Given the description of an element on the screen output the (x, y) to click on. 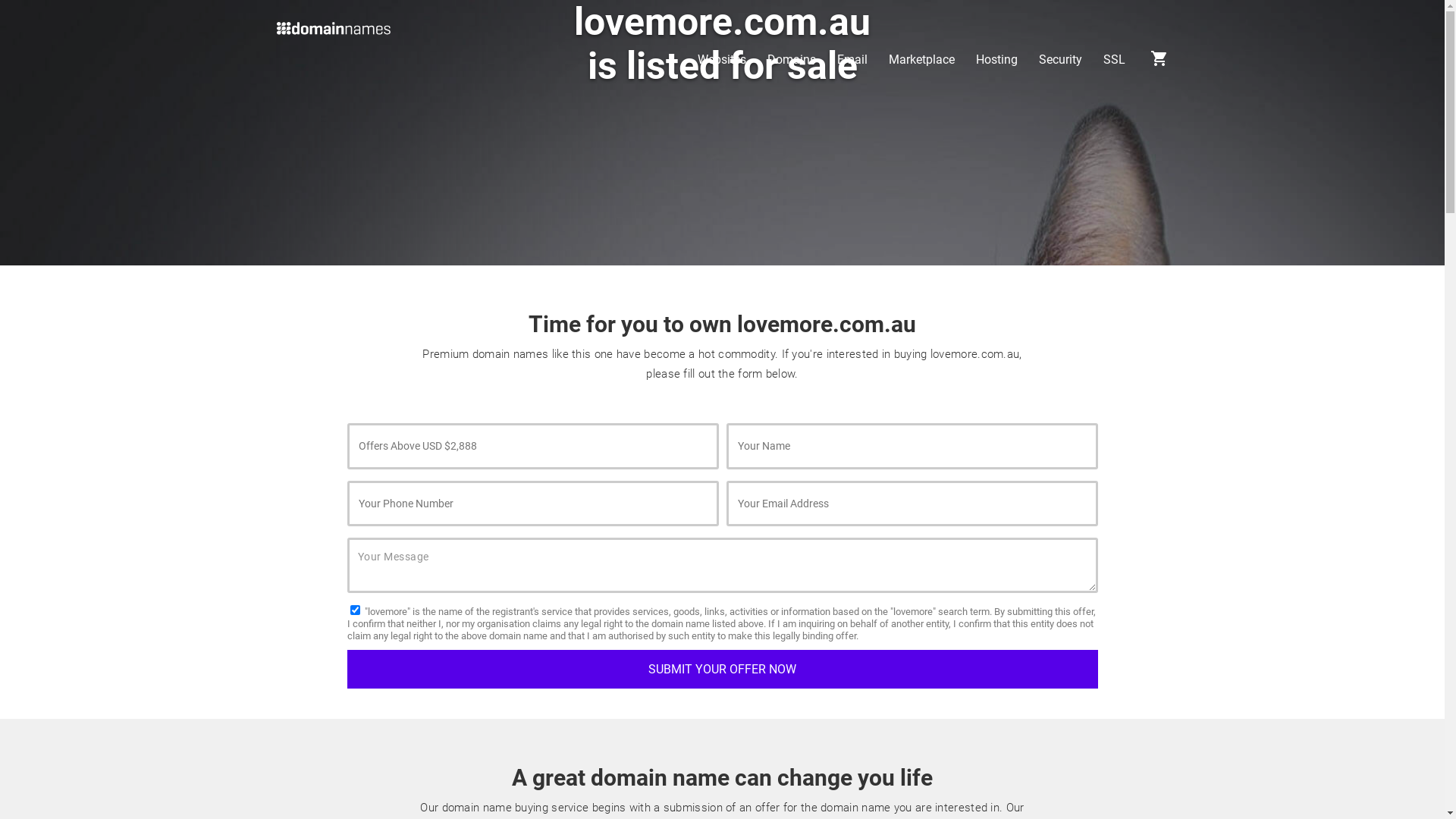
Websites Element type: text (721, 59)
Marketplace Element type: text (921, 59)
Security Element type: text (1060, 59)
Email Element type: text (852, 59)
Submit your offer now Element type: text (722, 668)
Domains Element type: text (791, 59)
Hosting Element type: text (996, 59)
shopping_cart Element type: text (1158, 63)
SSL Element type: text (1113, 59)
